Given the description of an element on the screen output the (x, y) to click on. 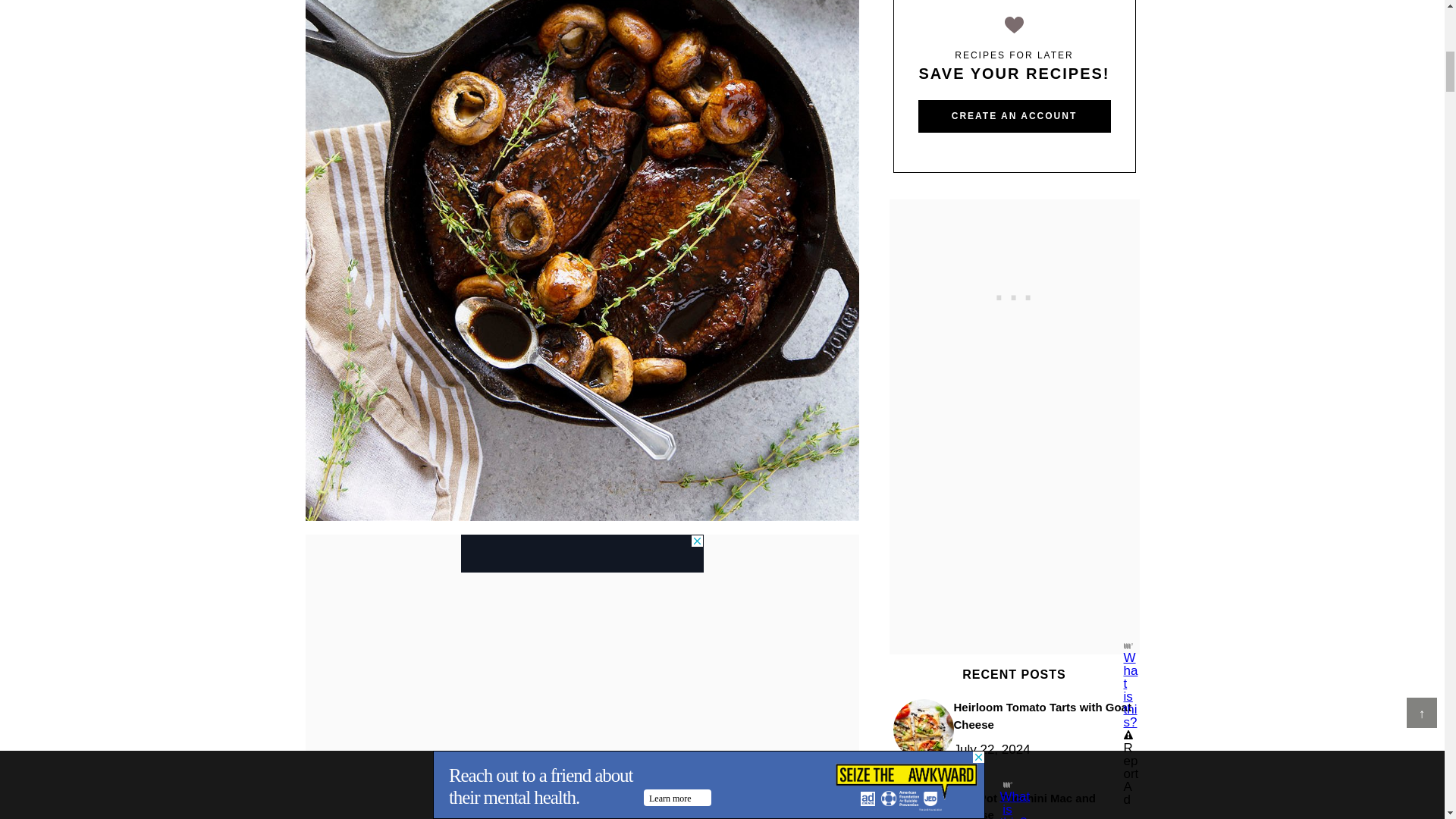
3rd party ad content (1014, 294)
3rd party ad content (582, 553)
